Given the description of an element on the screen output the (x, y) to click on. 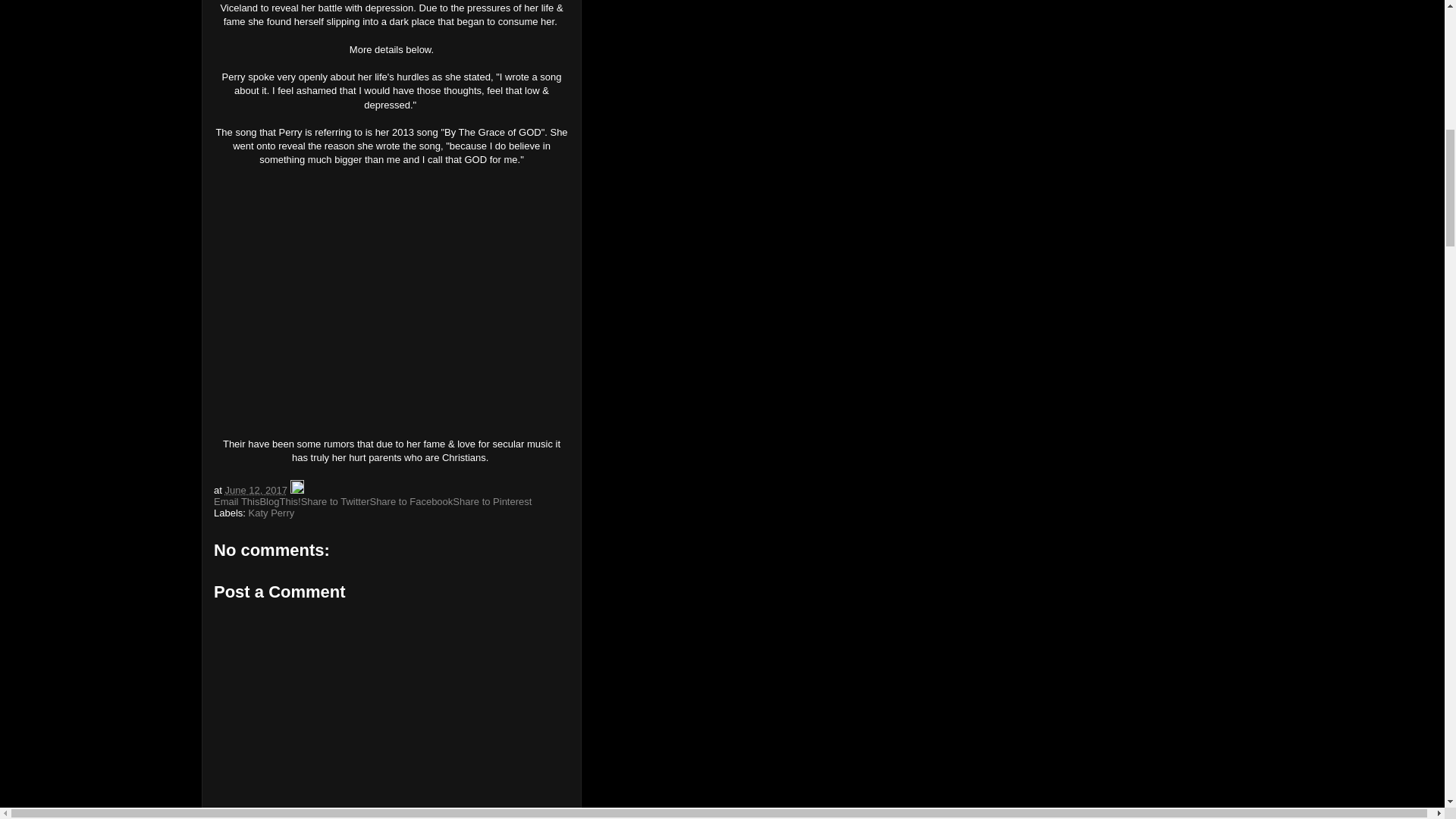
Share to Pinterest (491, 501)
Share to Twitter (335, 501)
Email This (236, 501)
Katy Perry (271, 512)
Share to Facebook (410, 501)
Share to Facebook (410, 501)
BlogThis! (279, 501)
permanent link (255, 490)
Share to Twitter (335, 501)
BlogThis! (279, 501)
Email This (236, 501)
Share to Pinterest (491, 501)
Edit Post (295, 490)
June 12, 2017 (255, 490)
